Given the description of an element on the screen output the (x, y) to click on. 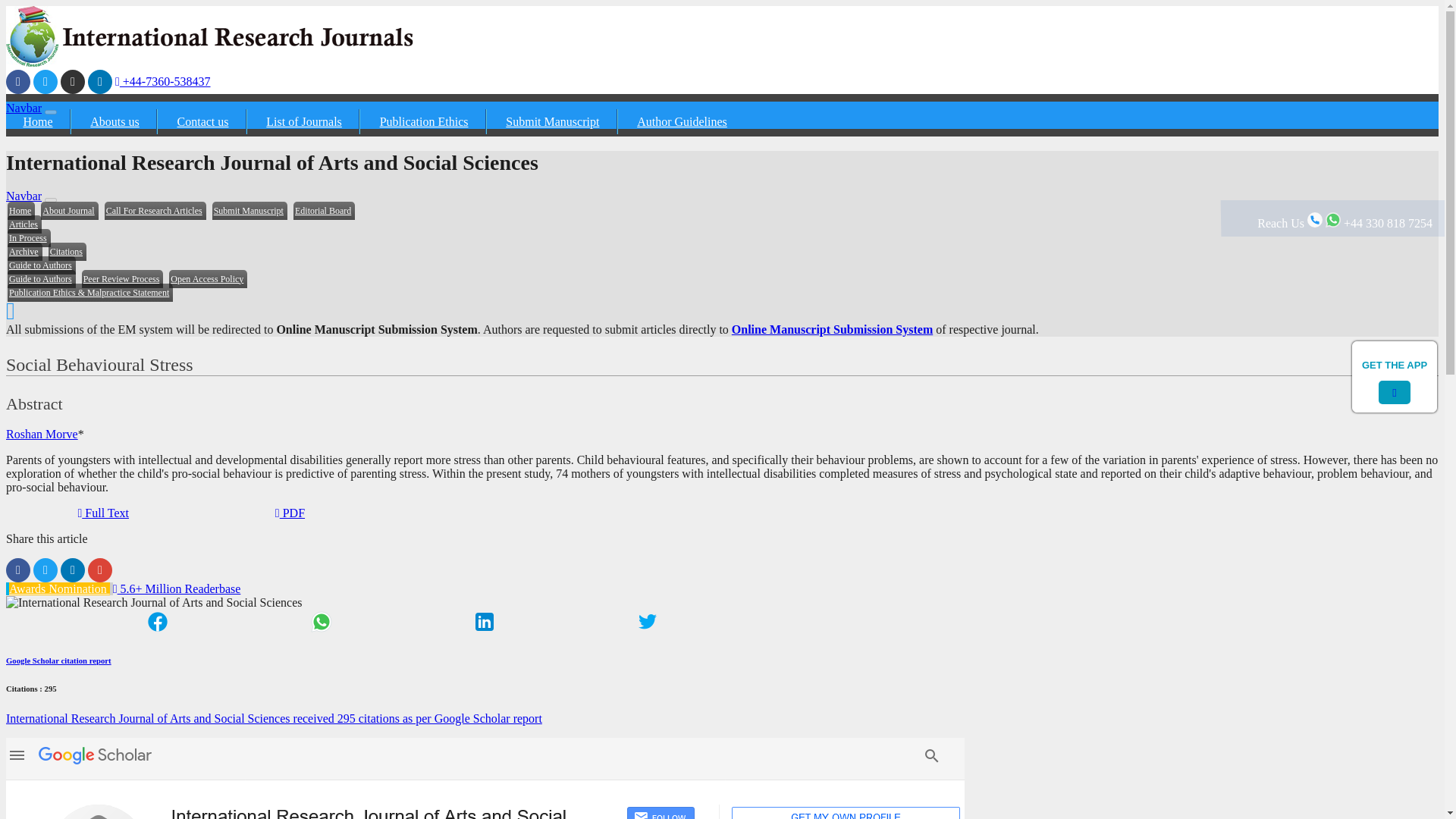
Citations (66, 251)
Online Manuscript Submission System (832, 328)
Roshan Morve (41, 433)
Click here (682, 121)
PDF (289, 512)
Home (37, 121)
Click here (66, 251)
Publication Ethics (424, 121)
Peer Review Process (122, 279)
Submit Manuscript (249, 210)
Click here (553, 121)
Click here (45, 81)
Click here (203, 121)
Submit Manuscript (553, 121)
Click here (155, 210)
